Given the description of an element on the screen output the (x, y) to click on. 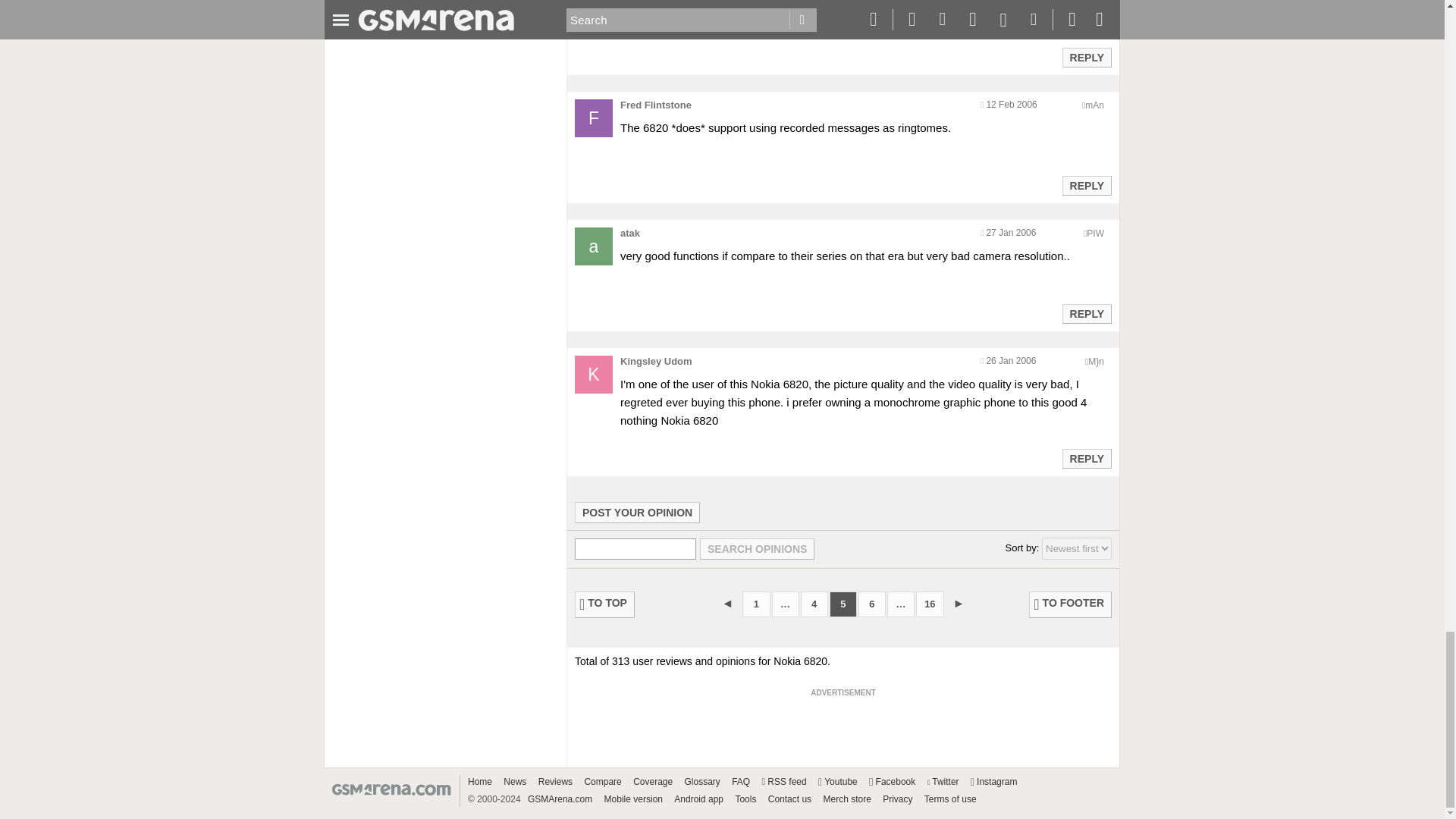
TO TOP (604, 604)
Search opinions (756, 548)
